Given the description of an element on the screen output the (x, y) to click on. 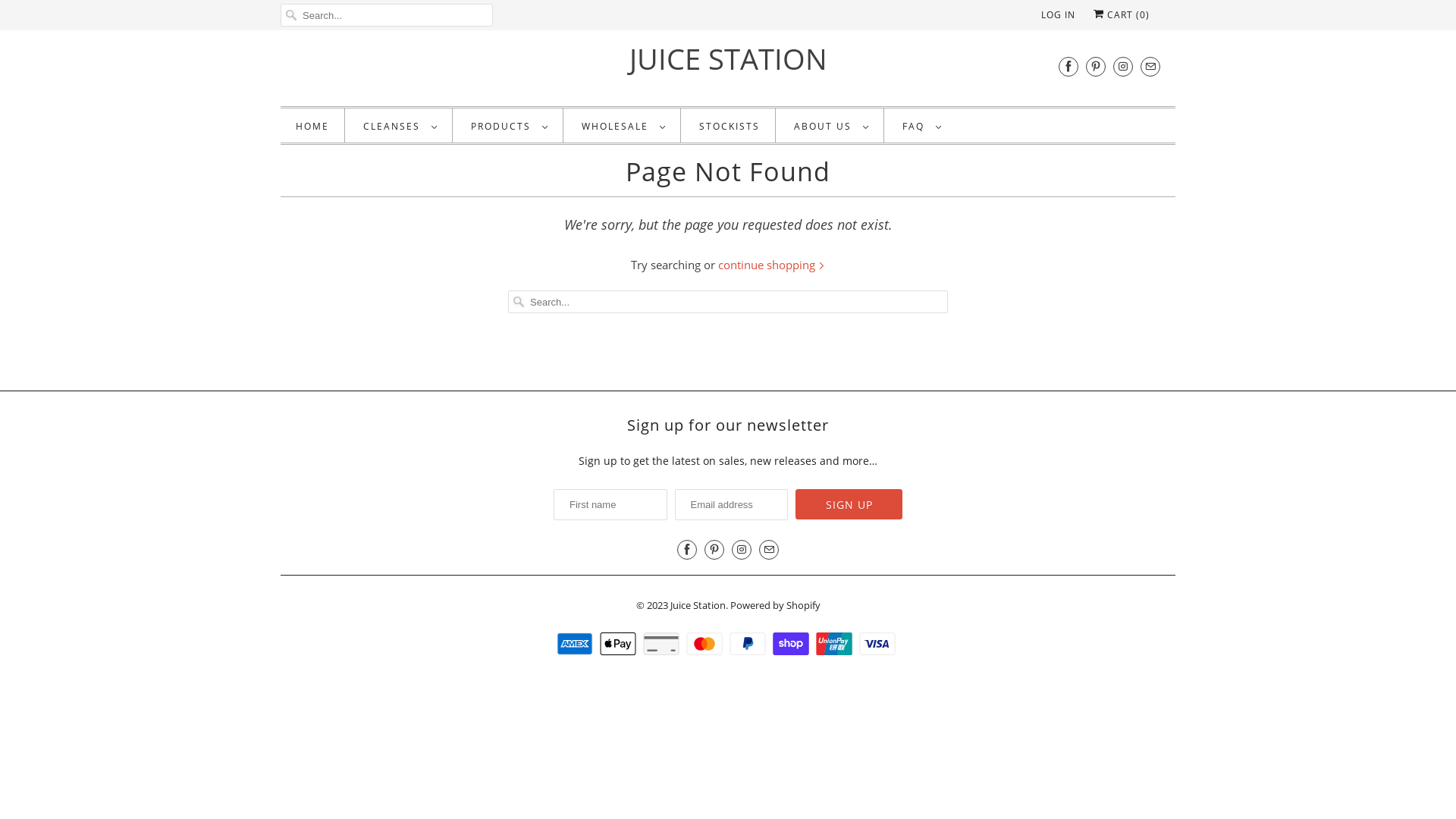
Email Juice Station Element type: hover (768, 549)
Juice Station on Instagram Element type: hover (741, 549)
STOCKISTS Element type: text (729, 126)
ABOUT US  Element type: text (830, 126)
continue shopping Element type: text (771, 264)
JUICE STATION Element type: text (727, 58)
LOG IN Element type: text (1058, 14)
Juice Station on Pinterest Element type: hover (1095, 66)
Juice Station on Instagram Element type: hover (1122, 66)
FAQ  Element type: text (921, 126)
Juice Station on Facebook Element type: hover (1068, 66)
WHOLESALE  Element type: text (623, 126)
Sign Up Element type: text (848, 504)
HOME Element type: text (312, 126)
Juice Station on Pinterest Element type: hover (714, 549)
CART (0) Element type: text (1121, 14)
Juice Station Element type: text (697, 599)
PRODUCTS  Element type: text (508, 126)
Powered by Shopify Element type: text (774, 599)
Email Juice Station Element type: hover (1150, 66)
Juice Station on Facebook Element type: hover (686, 549)
CLEANSES  Element type: text (399, 126)
